Given the description of an element on the screen output the (x, y) to click on. 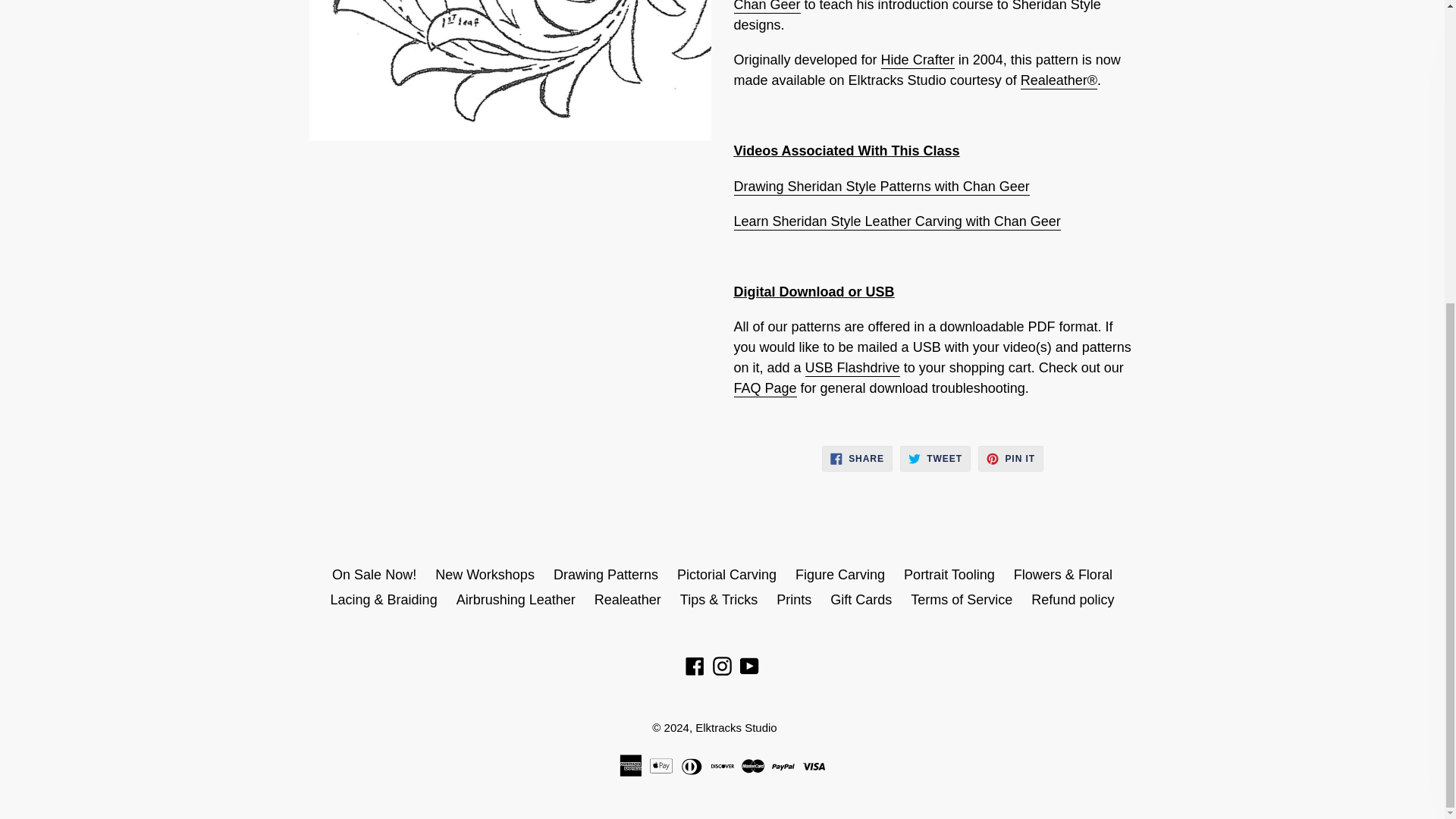
Learn Sheridan Style Carving (897, 221)
Pin on Pinterest (1010, 458)
Elktracks Studio on Facebook (694, 665)
Tweet on Twitter (935, 458)
Chan Geer Leatherworker (766, 6)
Elktracks Studio on YouTube (749, 665)
Elktracks Studio on Instagram (721, 665)
Hide Crafter (917, 60)
Share on Facebook (857, 458)
